Given the description of an element on the screen output the (x, y) to click on. 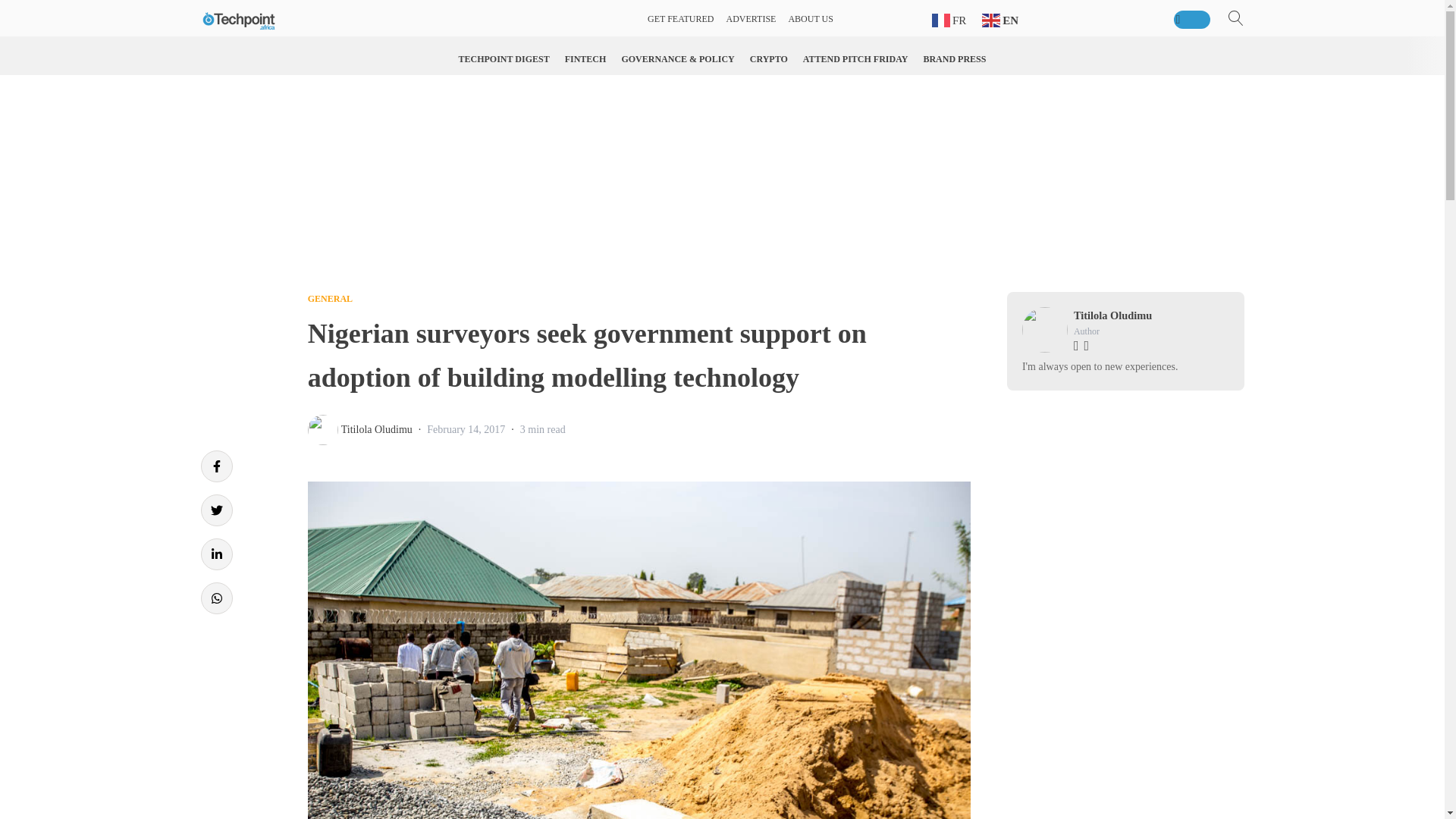
GENERAL (329, 298)
Titilola Oludimu (376, 429)
EN (1001, 19)
GET FEATURED (680, 19)
Share on Whatsapp (215, 598)
TECHPOINT DIGEST (504, 59)
Share on LinkedIn (215, 554)
Share on Facebook (215, 466)
Posts by Titilola Oludimu (376, 429)
ADVERTISE (751, 19)
BRAND PRESS (953, 59)
ATTEND PITCH FRIDAY (854, 59)
CRYPTO (768, 59)
Titilola Oludimu (1112, 315)
FR (950, 19)
